Given the description of an element on the screen output the (x, y) to click on. 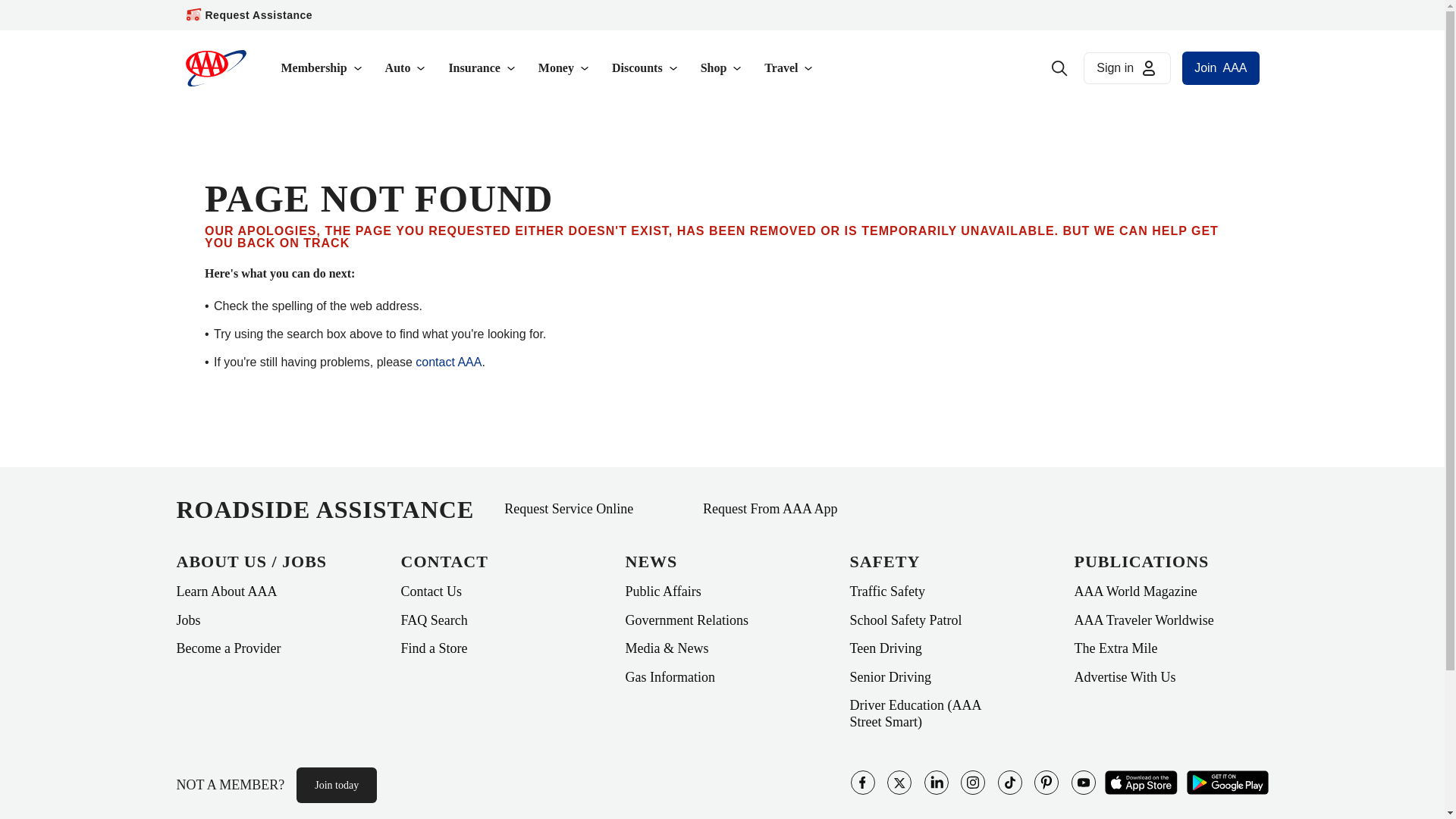
Membership (322, 68)
Request Assistance (259, 14)
Search (1059, 67)
Auto (406, 68)
